Given the description of an element on the screen output the (x, y) to click on. 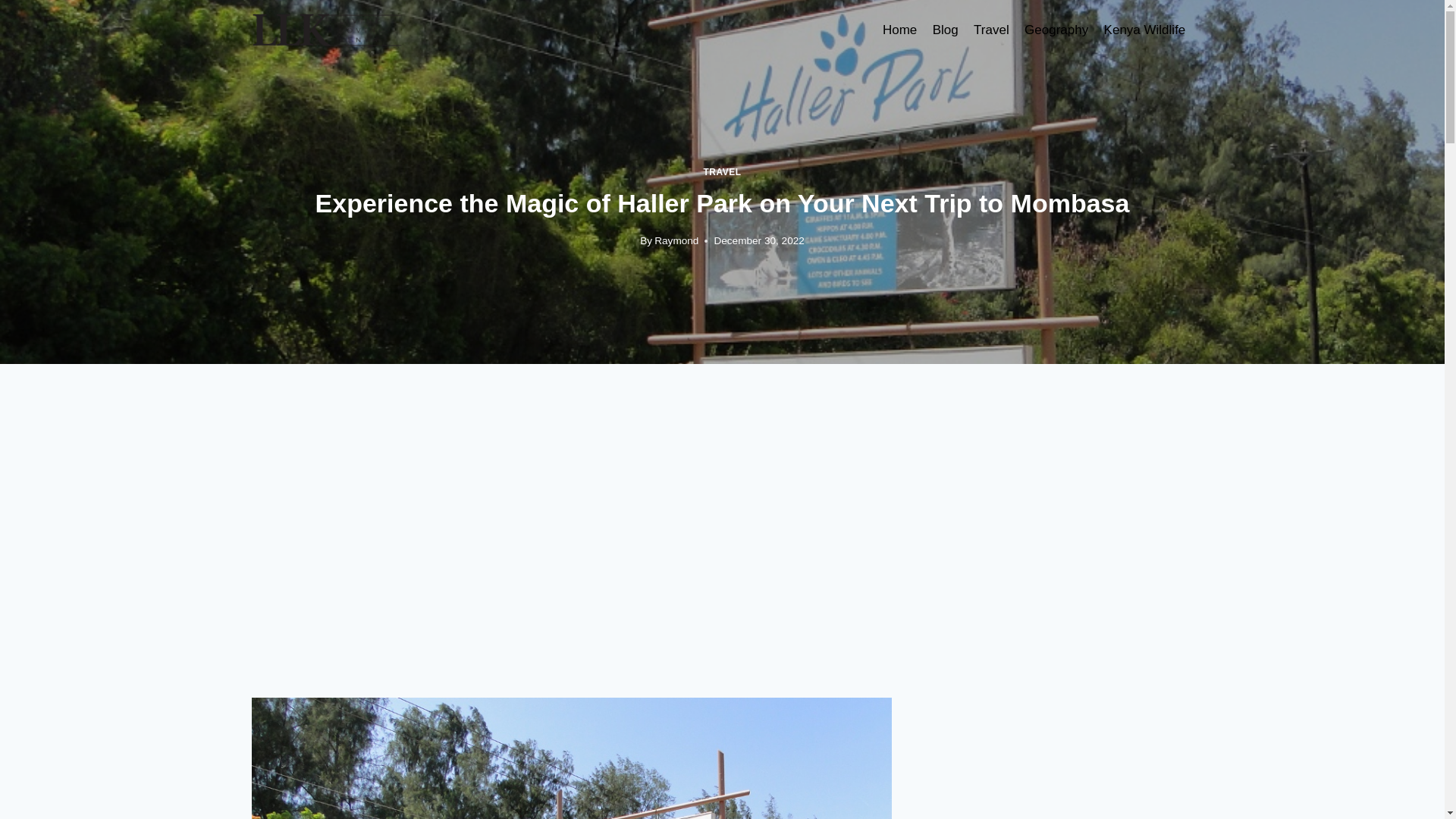
Travel (991, 30)
Kenya Wildlife (1144, 30)
Geography (1056, 30)
Blog (945, 30)
Home (899, 30)
Raymond (675, 240)
TRAVEL (722, 172)
